Given the description of an element on the screen output the (x, y) to click on. 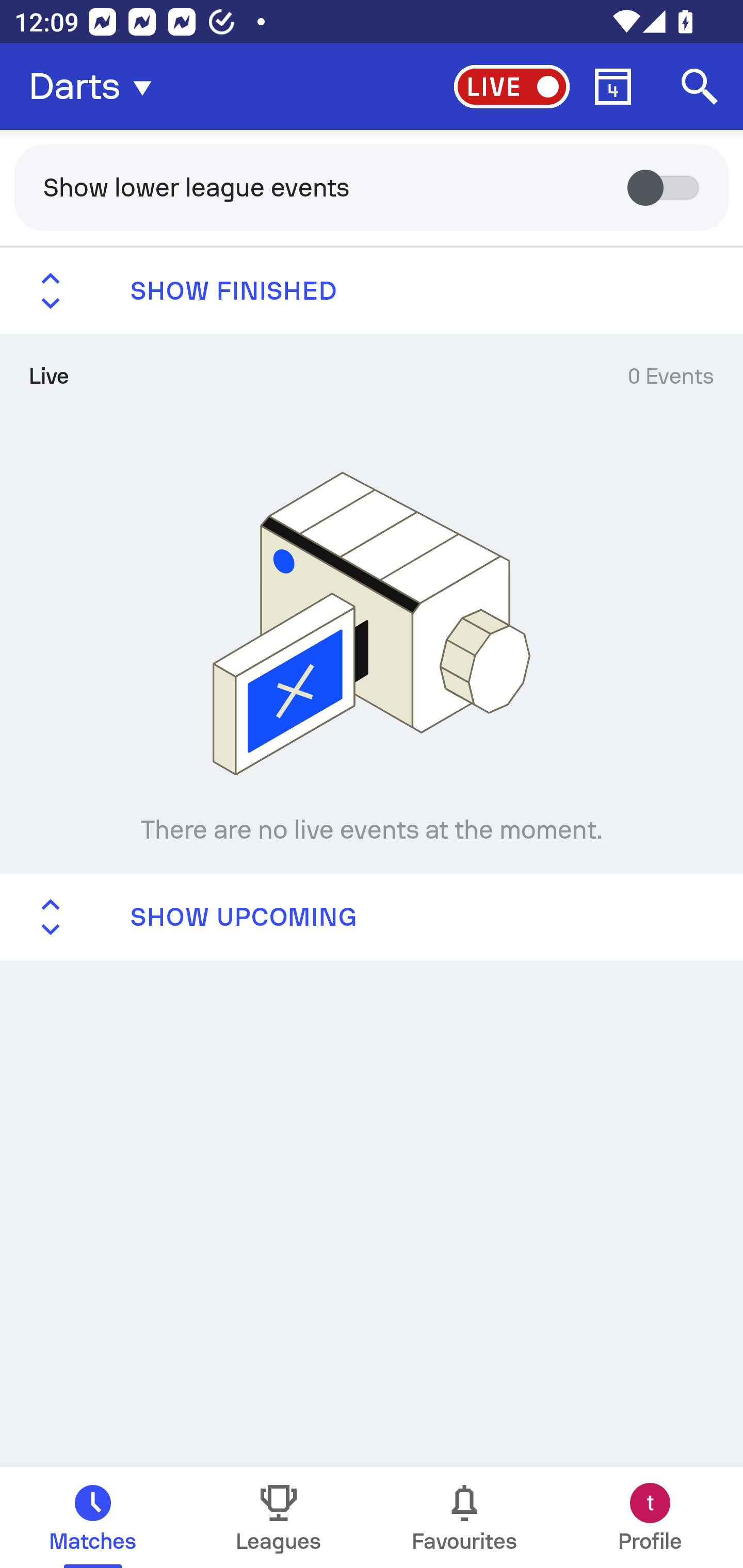
Darts (96, 86)
Calendar (612, 86)
Search (699, 86)
Show lower league events (371, 187)
SHOW FINISHED (371, 290)
SHOW UPCOMING (371, 916)
Leagues (278, 1517)
Favourites (464, 1517)
Profile (650, 1517)
